Given the description of an element on the screen output the (x, y) to click on. 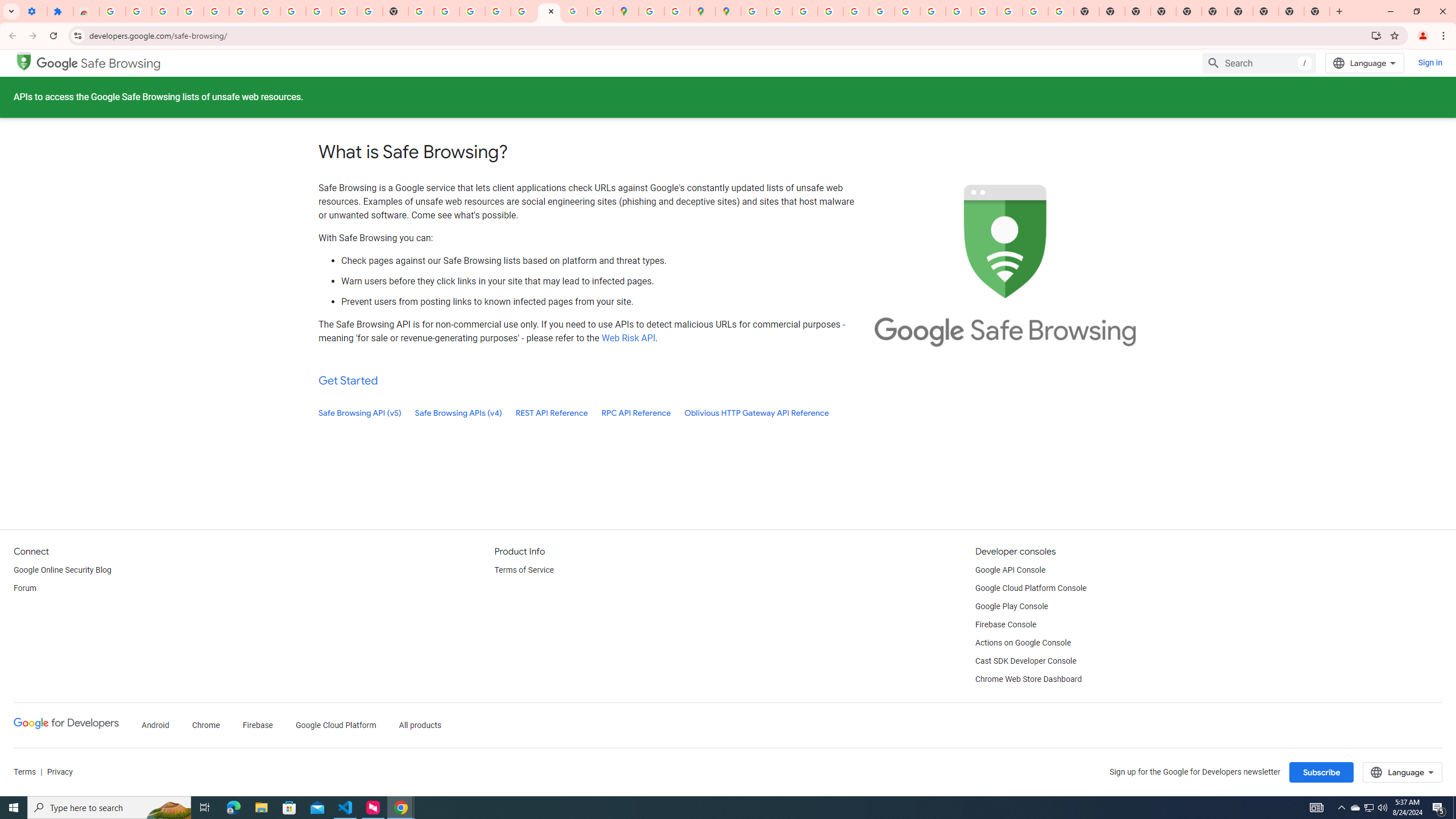
Google Images (1060, 11)
Learn how to find your photos - Google Photos Help (216, 11)
YouTube (344, 11)
Extensions (60, 11)
Web Risk API (628, 337)
Google Account (318, 11)
